Given the description of an element on the screen output the (x, y) to click on. 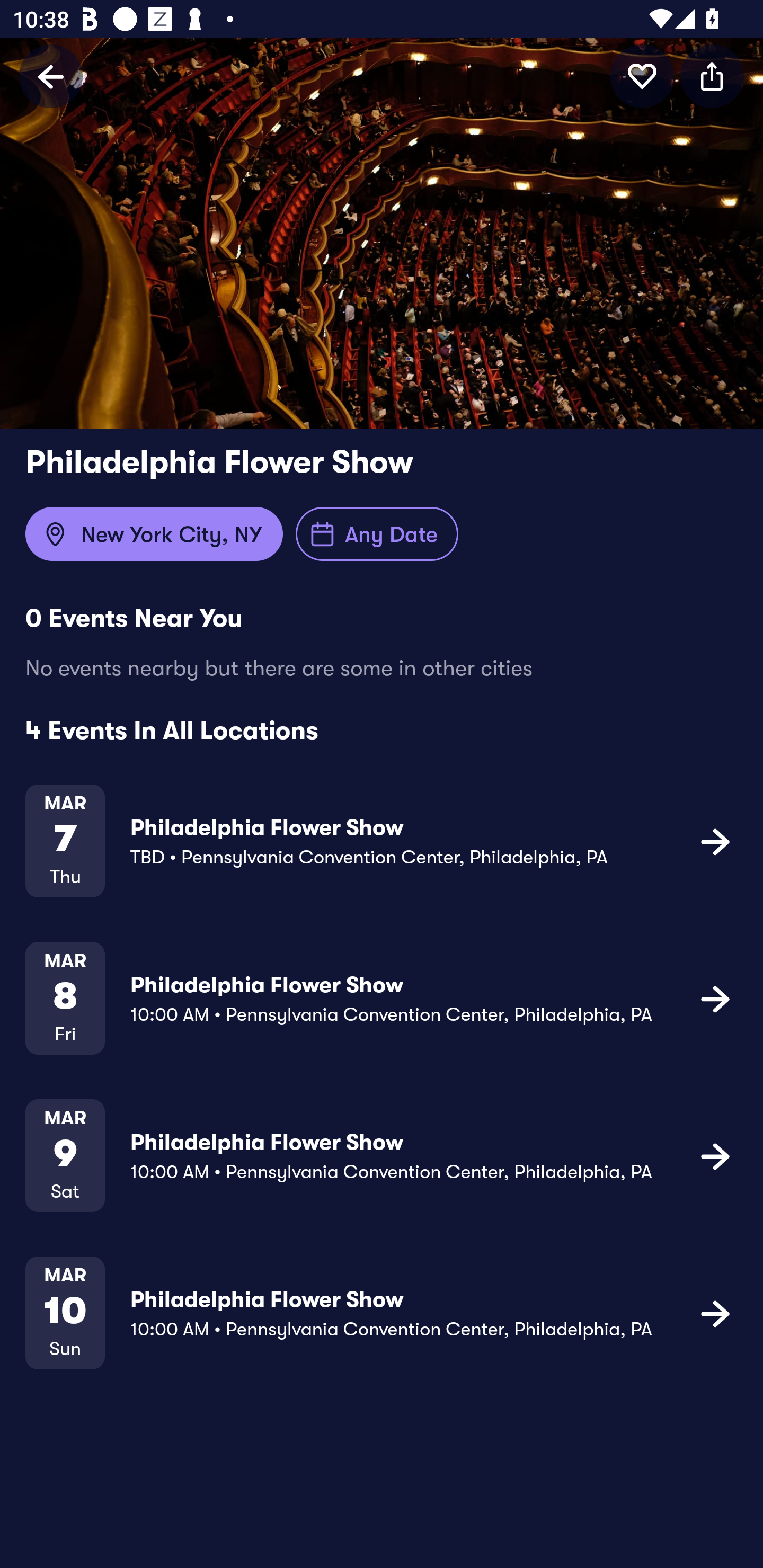
Back (50, 75)
icon button (641, 75)
icon button (711, 75)
New York City, NY (153, 533)
Any Date (377, 533)
icon button (714, 840)
icon button (714, 998)
icon button (714, 1155)
icon button (714, 1312)
